Given the description of an element on the screen output the (x, y) to click on. 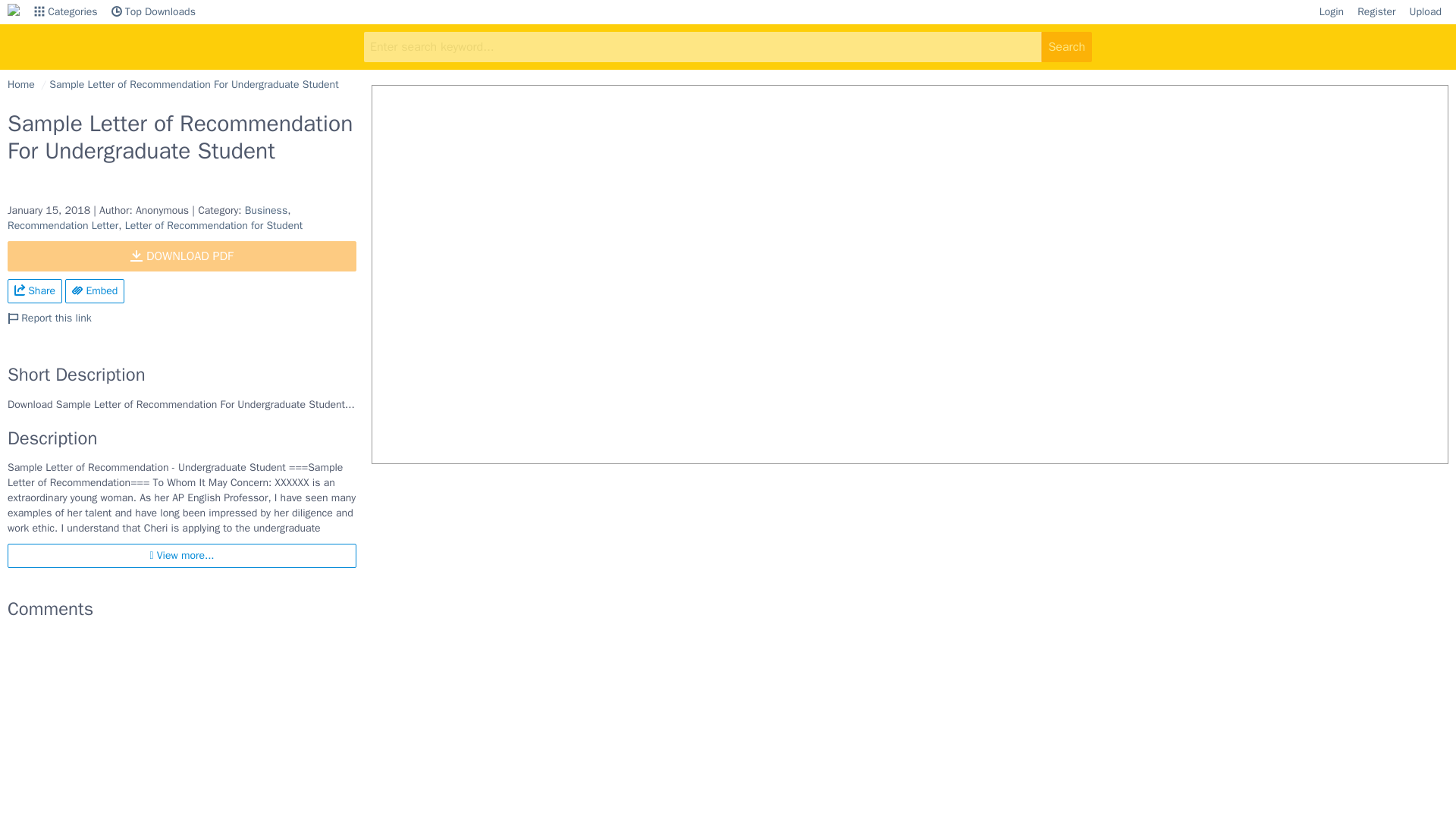
Register (1376, 12)
Upload (1425, 12)
Login (1332, 12)
Home (20, 83)
Business (265, 210)
Share (34, 291)
Recommendation Letter (62, 225)
Sample Letter of Recommendation For Undergraduate Student (193, 83)
Report this link (49, 318)
View more... (181, 555)
